Given the description of an element on the screen output the (x, y) to click on. 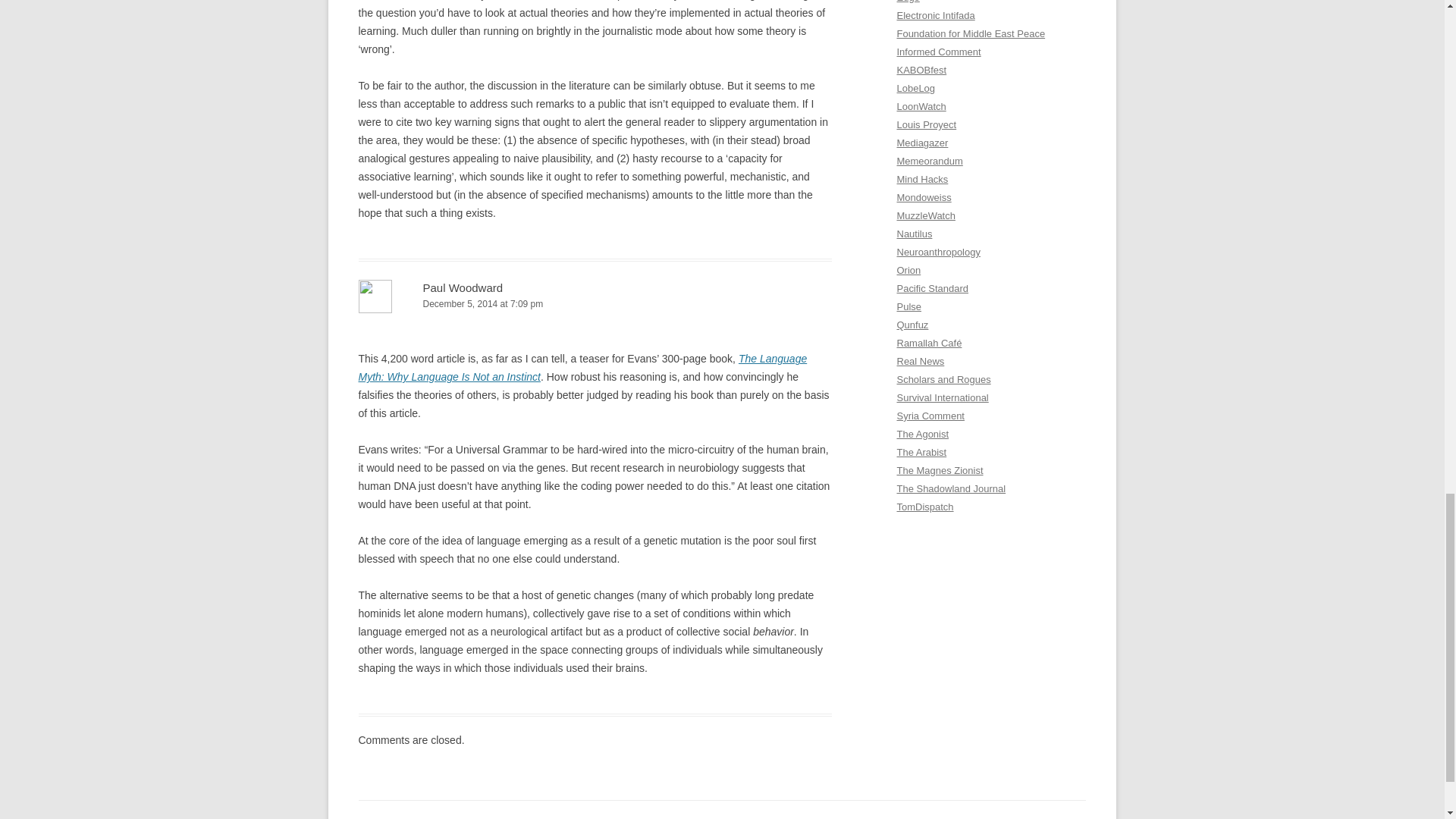
December 5, 2014 at 7:09 pm (594, 304)
The Language Myth: Why Language Is Not an Instinct (582, 367)
The Real News Network (919, 360)
Jim Lobe and friends on foreign policy (915, 88)
